Given the description of an element on the screen output the (x, y) to click on. 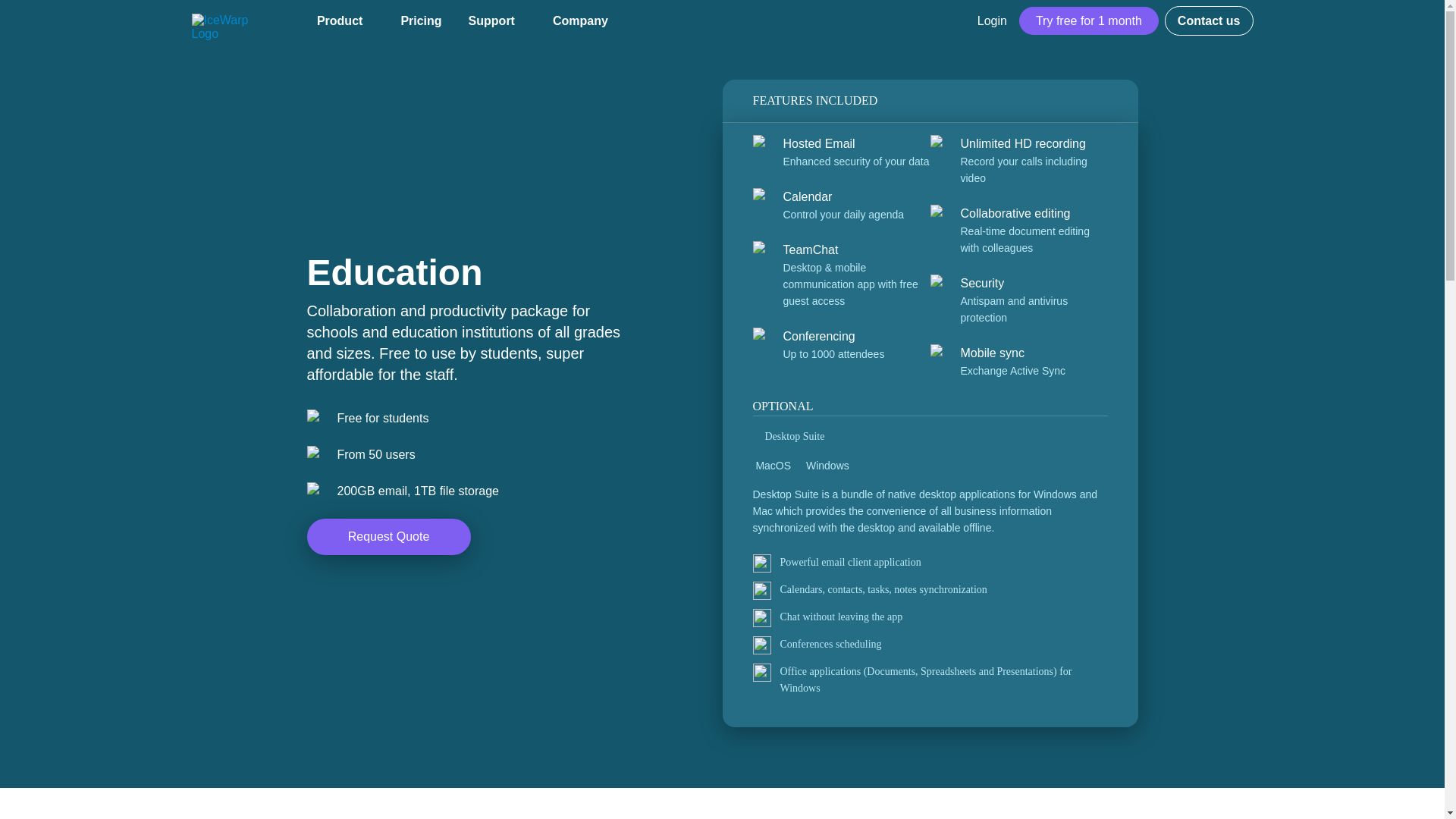
Login (991, 20)
Try free for 1 month (1088, 20)
Company (586, 21)
Contact us (1208, 20)
Pricing (420, 21)
Support (496, 21)
Product (345, 21)
